Given the description of an element on the screen output the (x, y) to click on. 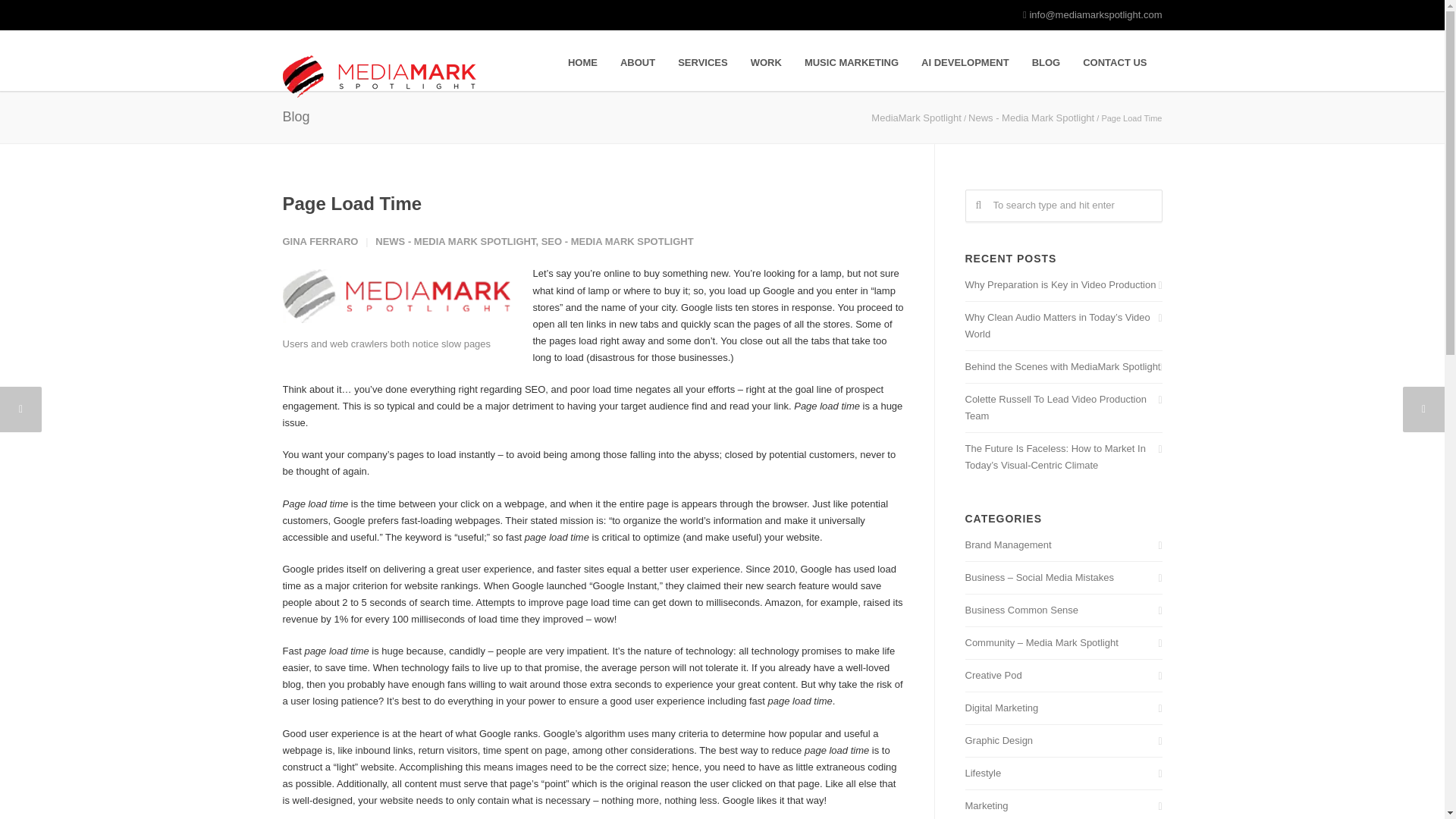
Permalink to Page Load Time (352, 203)
WORK (766, 62)
MUSIC MARKETING (851, 62)
AI DEVELOPMENT (965, 62)
CONTACT US (1114, 62)
HOME (582, 62)
To search type and hit enter (1062, 205)
SERVICES (702, 62)
ABOUT (637, 62)
BLOG (1045, 62)
